Given the description of an element on the screen output the (x, y) to click on. 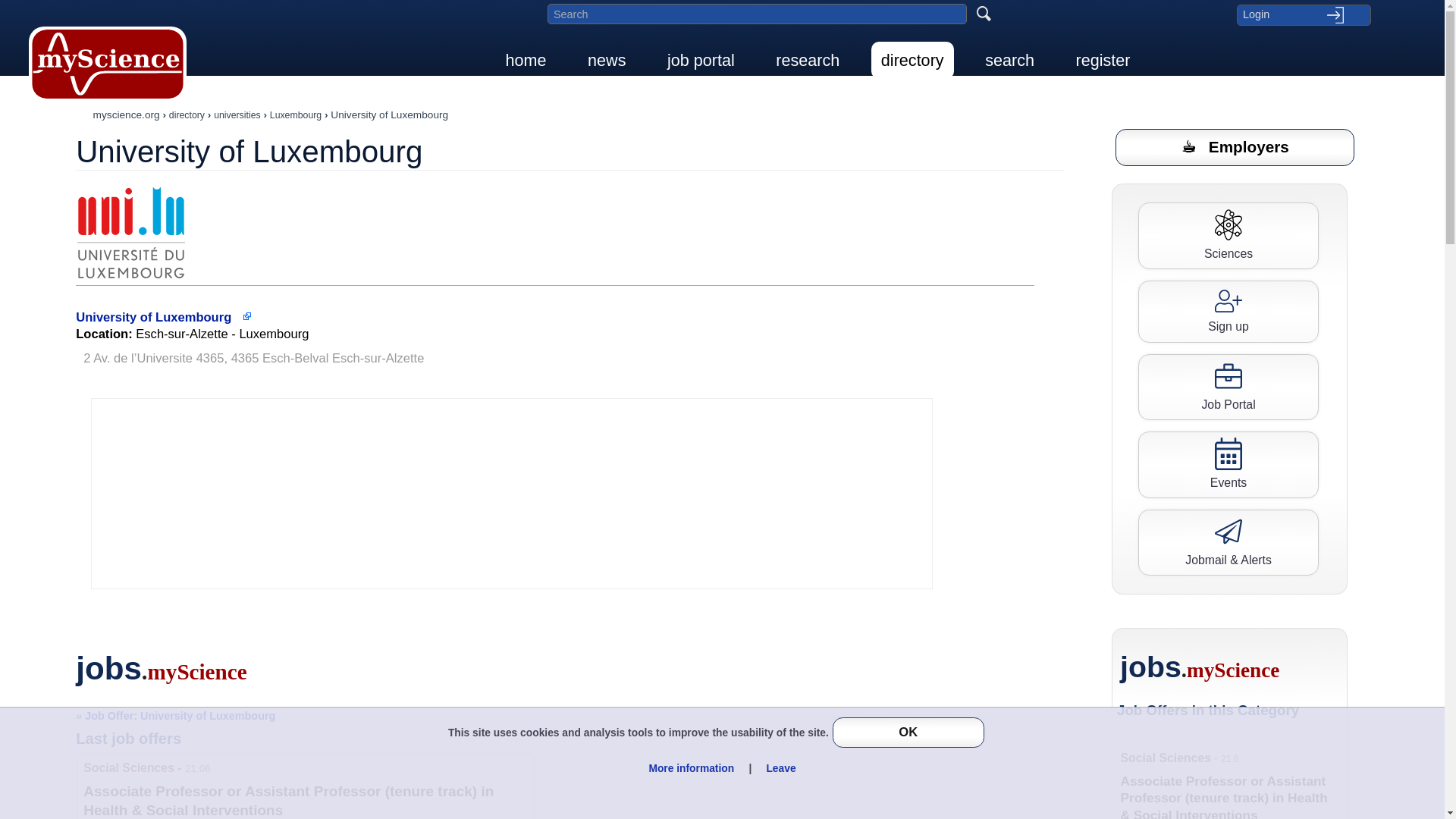
Post a job (1234, 147)
research (806, 59)
job portal (701, 59)
myScience Home (107, 63)
Search Job Offers (1227, 386)
Search in myscience.org (756, 14)
Search jobs related to University of Luxembourg (175, 715)
news (606, 59)
home (526, 59)
Login (1303, 14)
directory (911, 59)
University of Luxembourg (130, 232)
